Given the description of an element on the screen output the (x, y) to click on. 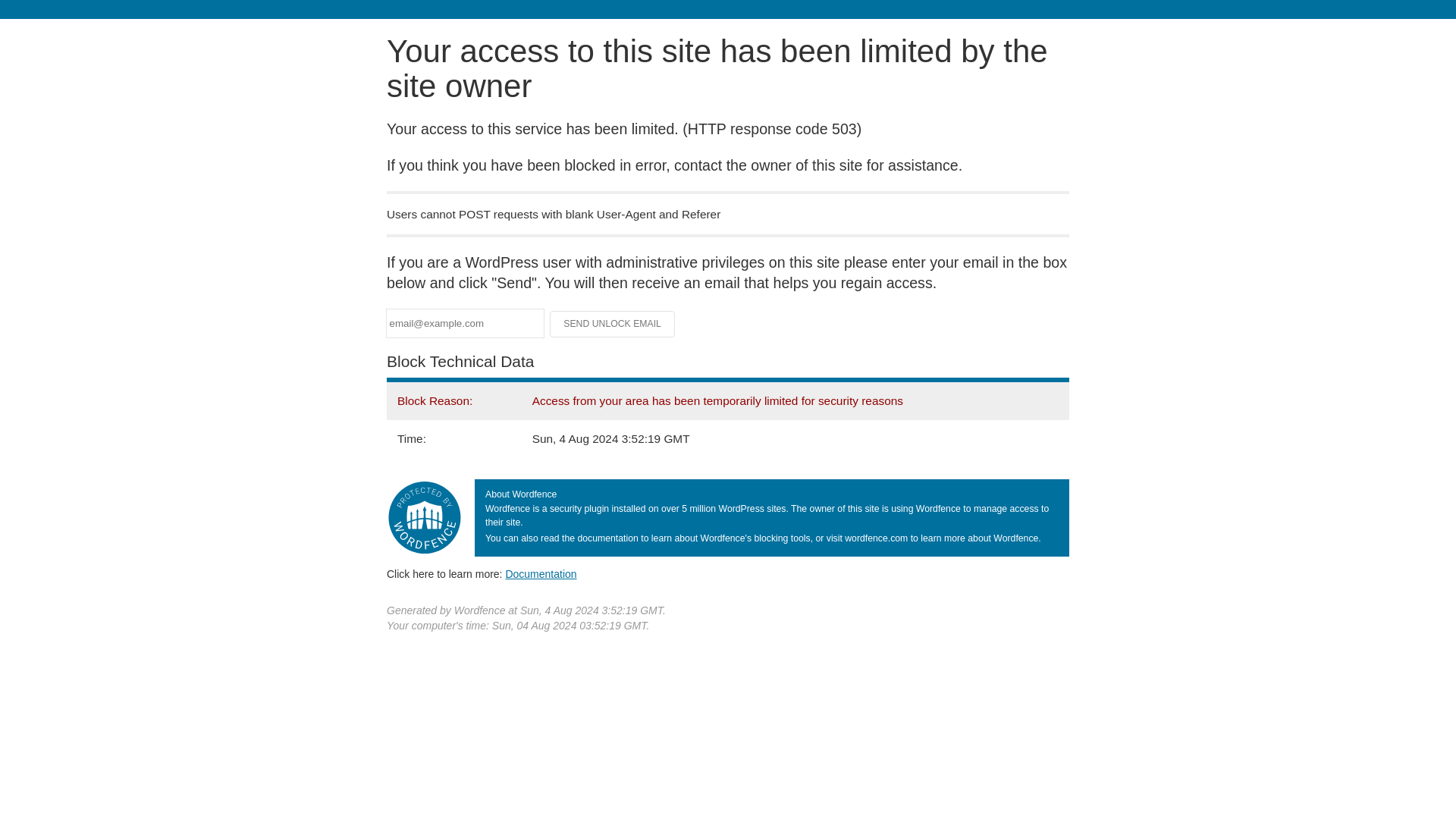
Send Unlock Email (612, 323)
Send Unlock Email (612, 323)
